Given the description of an element on the screen output the (x, y) to click on. 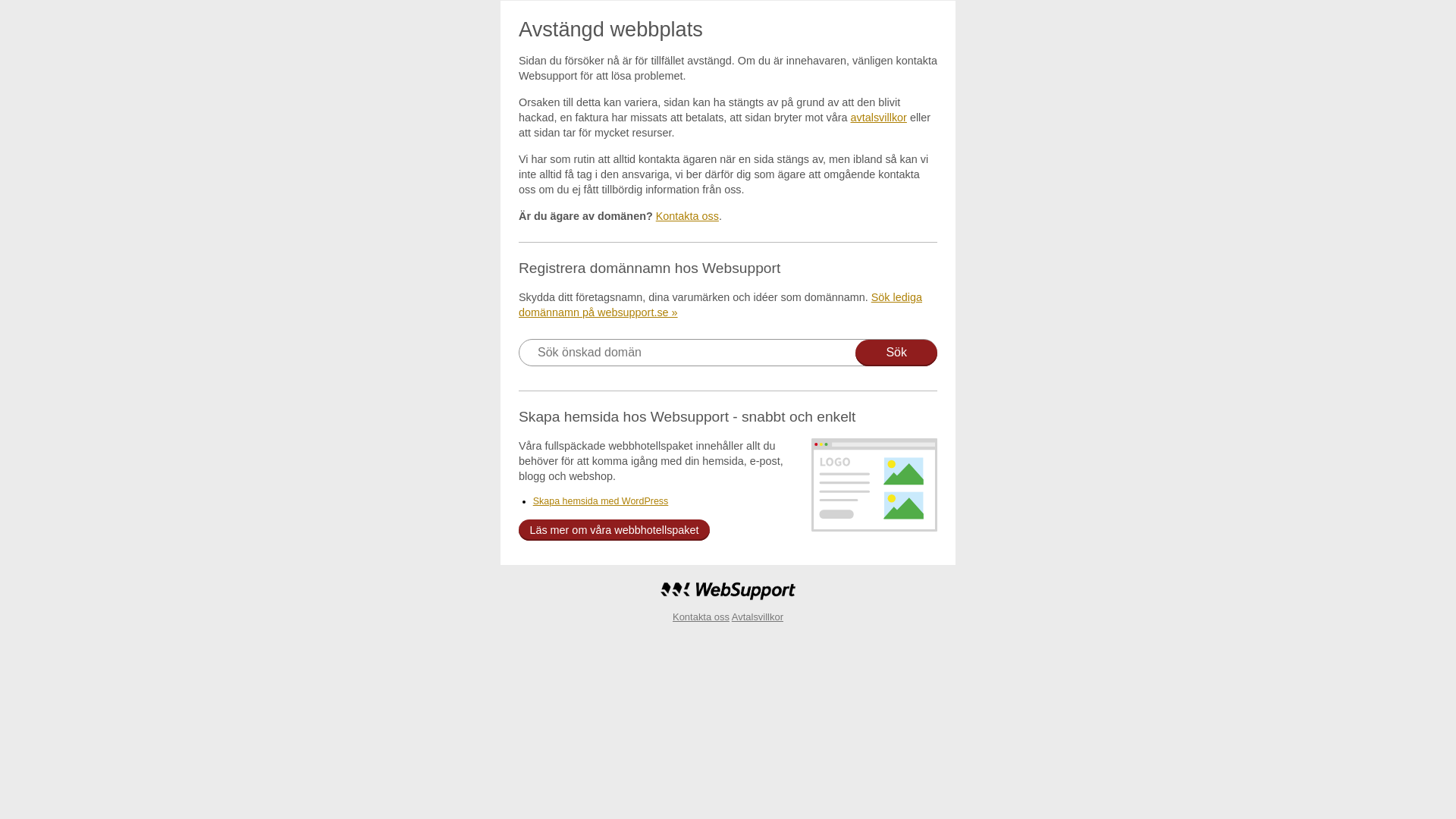
Kontakta oss Element type: text (686, 216)
Avtalsvillkor Element type: text (757, 616)
Skapa hemsida med WordPress Element type: text (600, 500)
Kontakta oss Element type: text (700, 616)
avtalsvillkor Element type: text (878, 117)
